Given the description of an element on the screen output the (x, y) to click on. 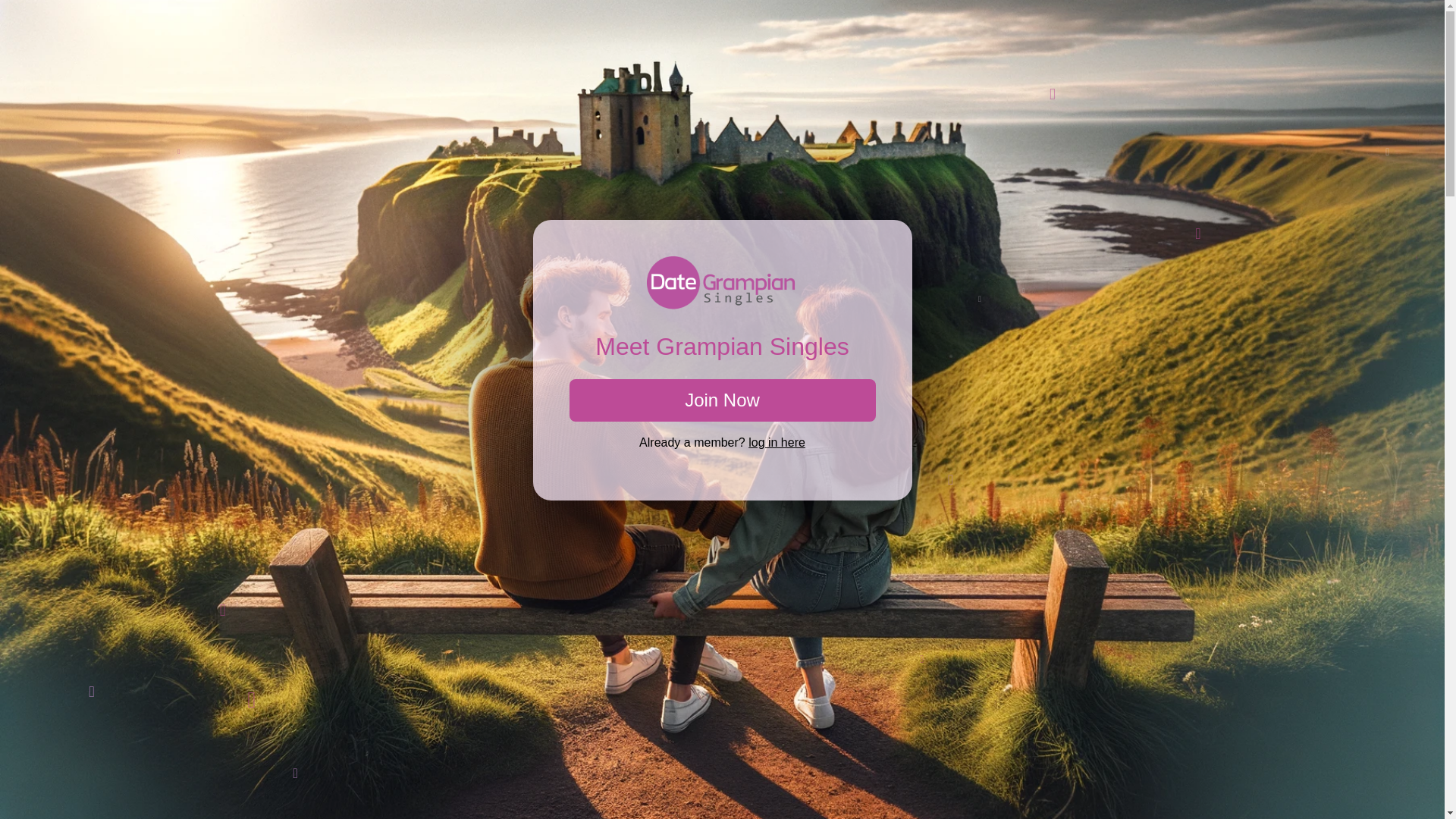
log in here (776, 441)
Join Now (722, 400)
